Given the description of an element on the screen output the (x, y) to click on. 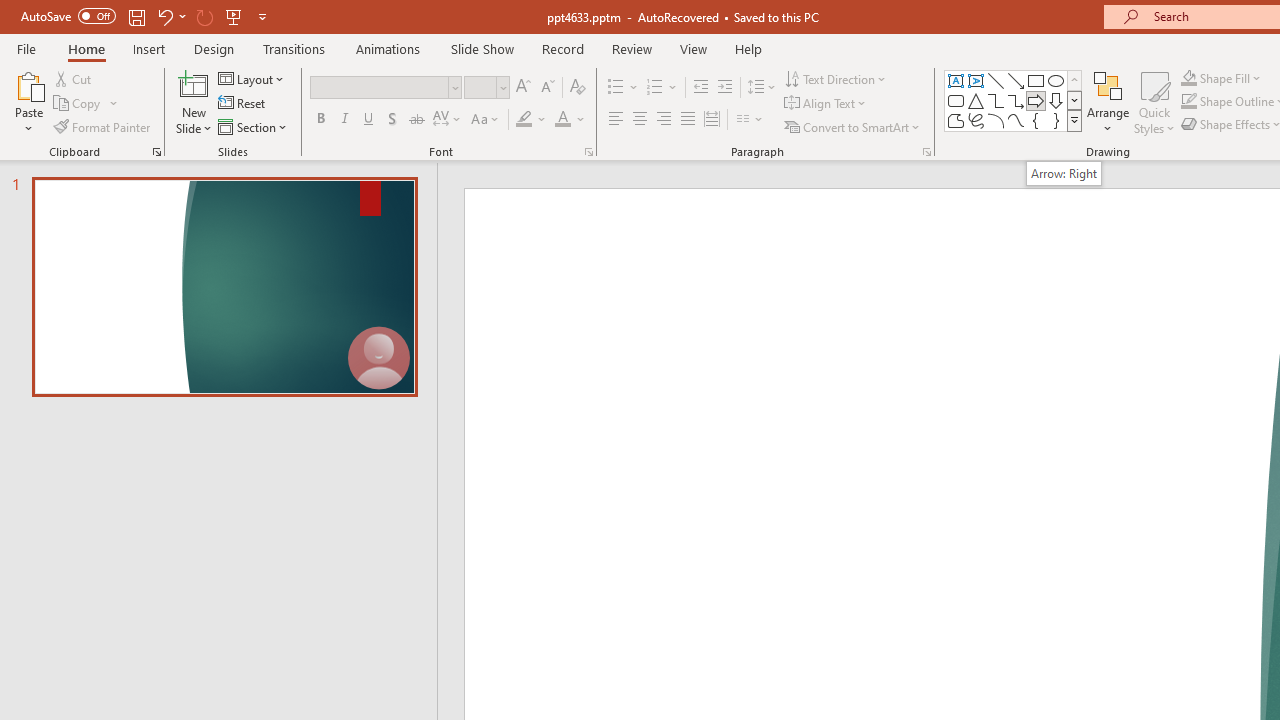
Shape Fill Orange, Accent 2 (1188, 78)
Arc (995, 120)
Oval (1055, 80)
